Given the description of an element on the screen output the (x, y) to click on. 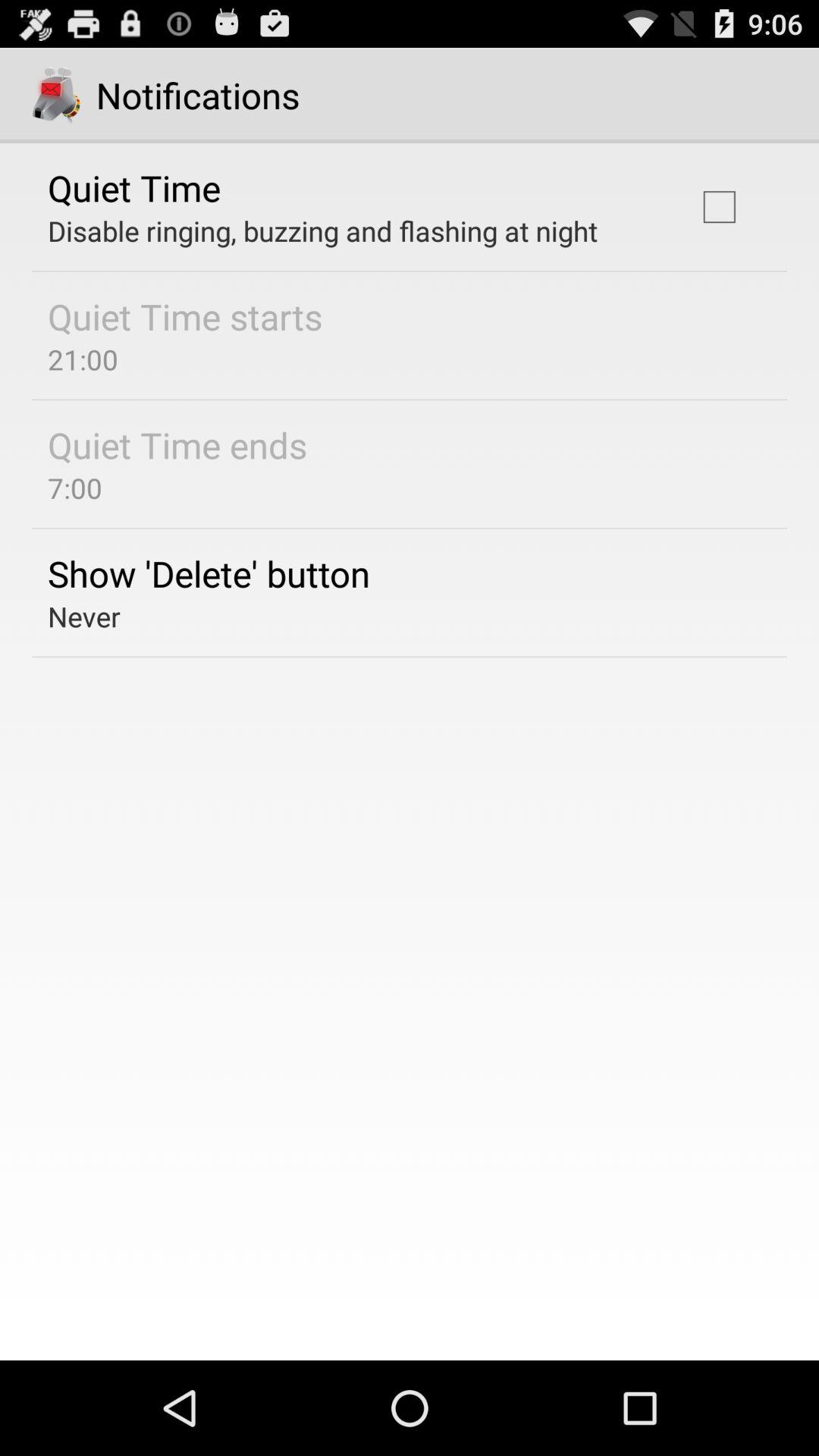
choose the checkbox at the top right corner (719, 206)
